Given the description of an element on the screen output the (x, y) to click on. 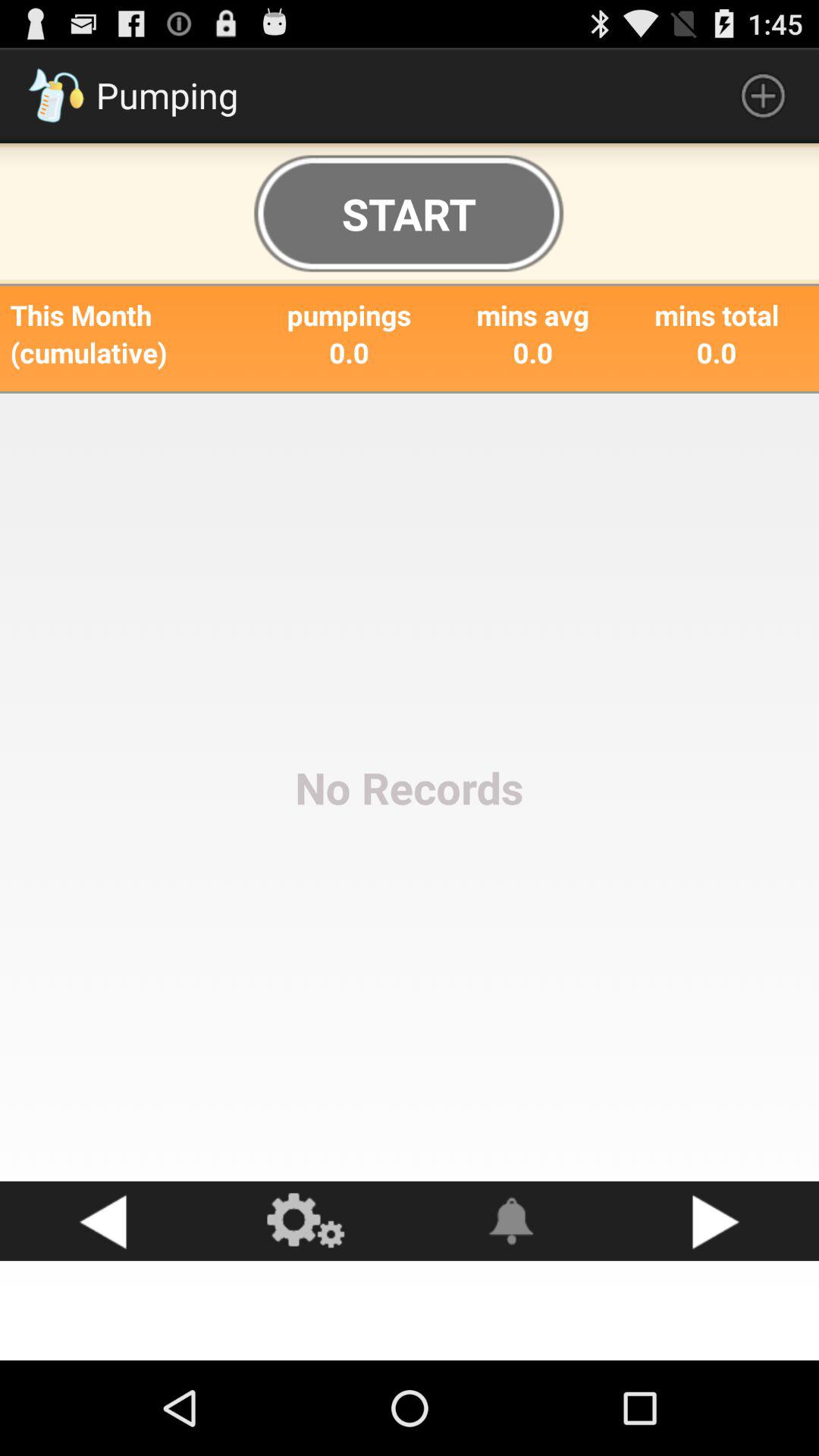
select icon below the no records item (102, 1220)
